Given the description of an element on the screen output the (x, y) to click on. 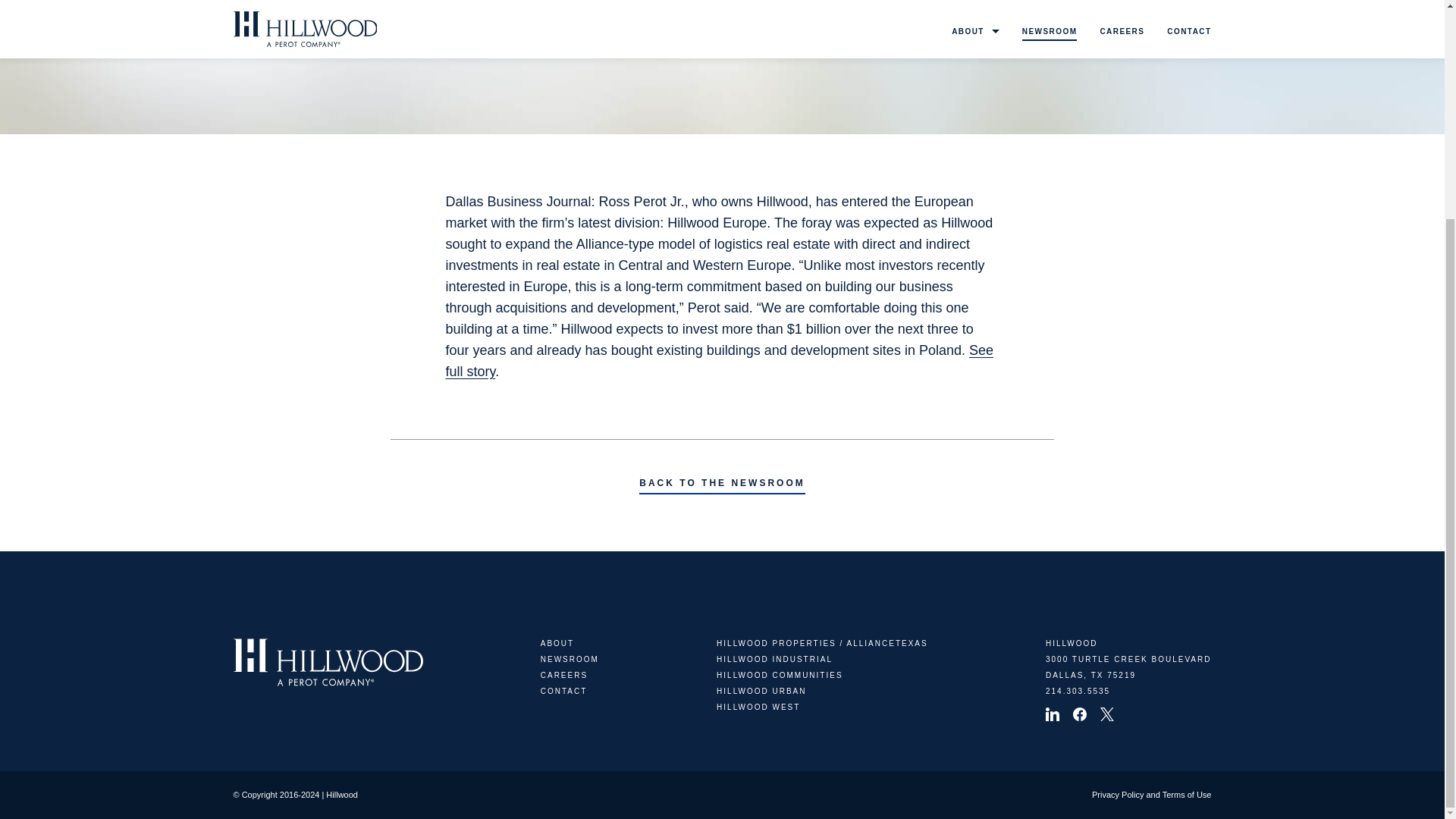
Email (781, 35)
HILLWOOD INDUSTRIAL (774, 659)
HILLWOOD URBAN (761, 691)
Share (742, 35)
BACK TO THE NEWSROOM (722, 485)
ABOUT (556, 643)
HILLWOOD WEST (757, 706)
HILLWOOD COMMUNITIES (779, 674)
See full story (718, 361)
NEWSROOM (569, 659)
CAREERS (564, 674)
CONTACT (564, 691)
Privacy Policy and Terms of Use (1151, 794)
214.303.5535 (1077, 691)
Share (663, 35)
